Given the description of an element on the screen output the (x, y) to click on. 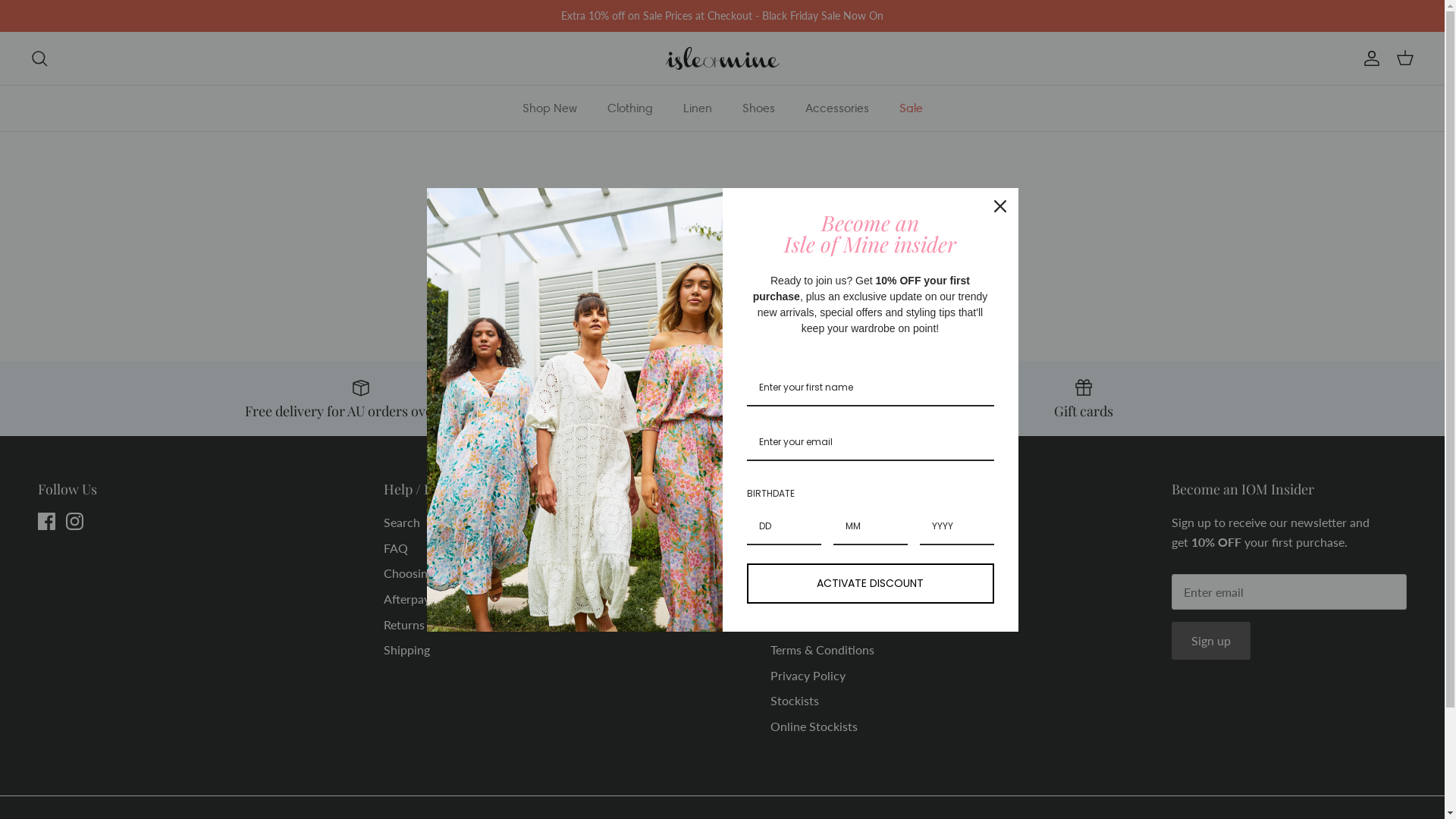
ACTIVATE DISCOUNT Element type: text (869, 583)
Sign up Element type: text (1210, 640)
Afterpay Element type: text (406, 598)
Styled in IOM Element type: text (807, 547)
Privacy Policy Element type: text (807, 675)
Returns Element type: text (403, 624)
Search Element type: text (39, 58)
Accessories Element type: text (836, 108)
Linen Element type: text (696, 108)
Ambassador Program Element type: text (827, 598)
Clothing Element type: text (629, 108)
Facebook Element type: text (46, 521)
home page Element type: text (762, 274)
Online Stockists Element type: text (813, 725)
Isle of Mine Element type: hover (722, 58)
try a search Element type: text (840, 274)
Cart Element type: text (1405, 58)
Free delivery for AU orders over $100* Element type: text (360, 398)
Contact Us Element type: text (800, 624)
Shop New Element type: text (548, 108)
Stockists Element type: text (794, 700)
Choosing Your Size Element type: text (433, 572)
Shoes Element type: text (757, 108)
Search Element type: text (401, 521)
Our Ethics Element type: text (798, 572)
Gift cards Element type: text (1083, 398)
Sale Element type: text (910, 108)
Account Element type: text (1368, 58)
Your nearest store Element type: text (721, 398)
Terms & Conditions Element type: text (822, 649)
Instagram Element type: text (74, 521)
FAQ Element type: text (395, 547)
Shipping Element type: text (406, 649)
The Brand Element type: text (797, 521)
